Given the description of an element on the screen output the (x, y) to click on. 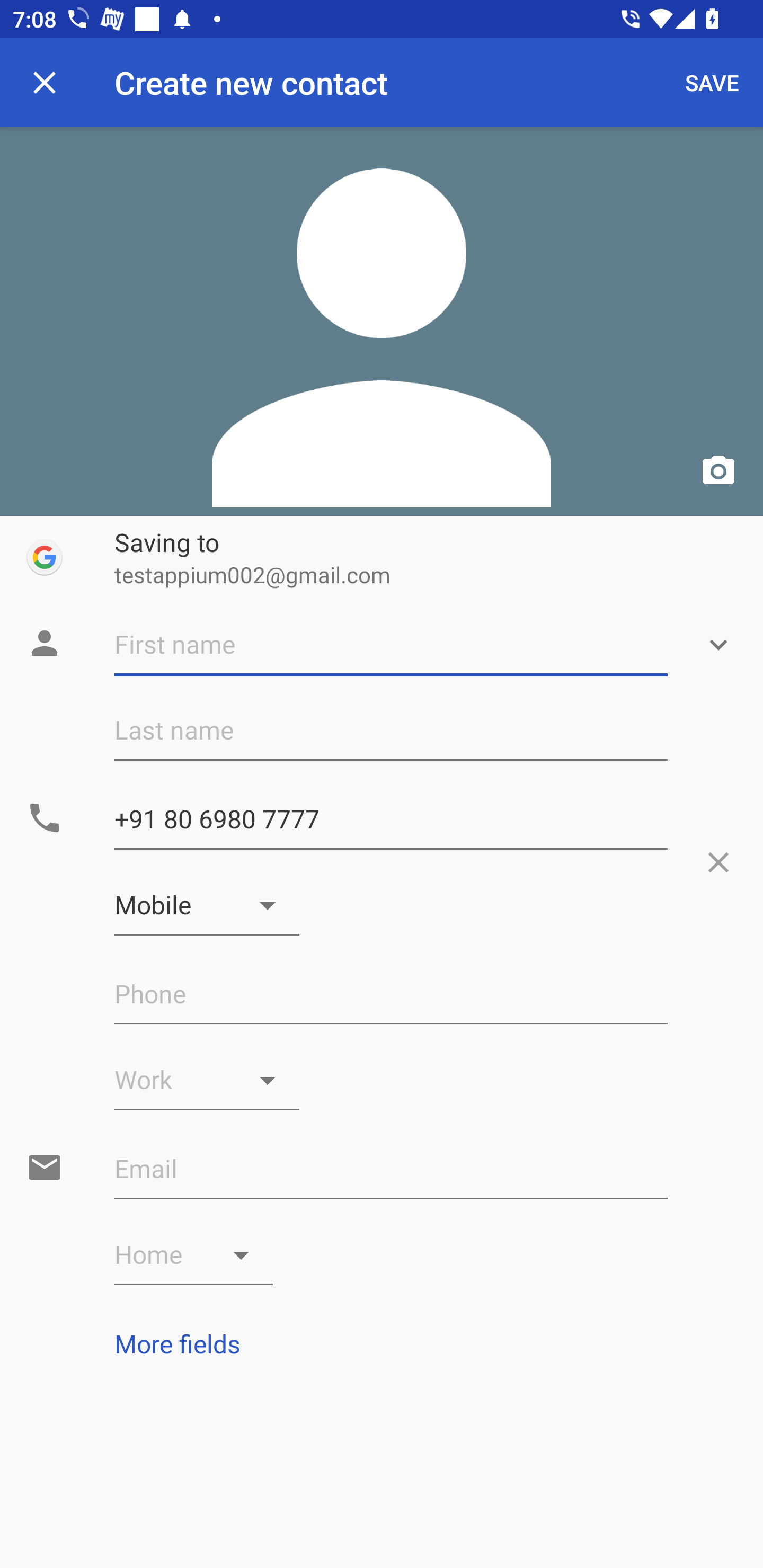
Cancel (44, 82)
SAVE (712, 82)
Add contact photo (381, 321)
First name (390, 645)
Show more name fields (718, 645)
Last name (390, 730)
+91 80 6980 7777 (390, 819)
Delete Mobile Phone delete (718, 862)
Phone Mobile (206, 905)
Phone (390, 993)
Phone Work (206, 1079)
Email (390, 1168)
Email Home (193, 1255)
More fields (381, 1343)
